Given the description of an element on the screen output the (x, y) to click on. 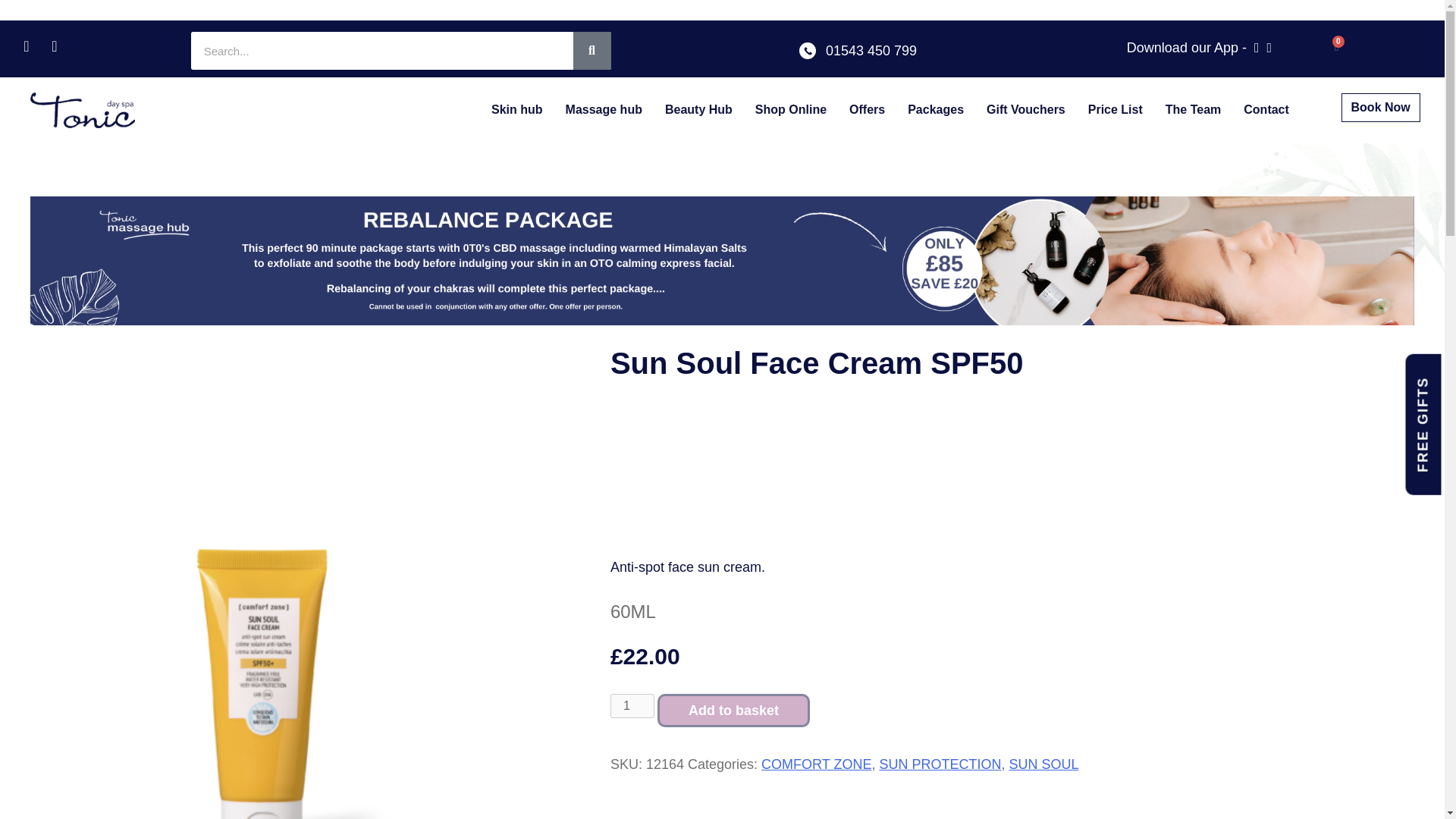
Beauty Hub (698, 109)
Shop Online (791, 109)
0 (1336, 46)
Massage hub (603, 109)
COMFORT ZONE (815, 764)
Offers (867, 109)
Price List (1115, 109)
Packages (935, 109)
SUN PROTECTION (940, 764)
Gift Vouchers (1026, 109)
